Given the description of an element on the screen output the (x, y) to click on. 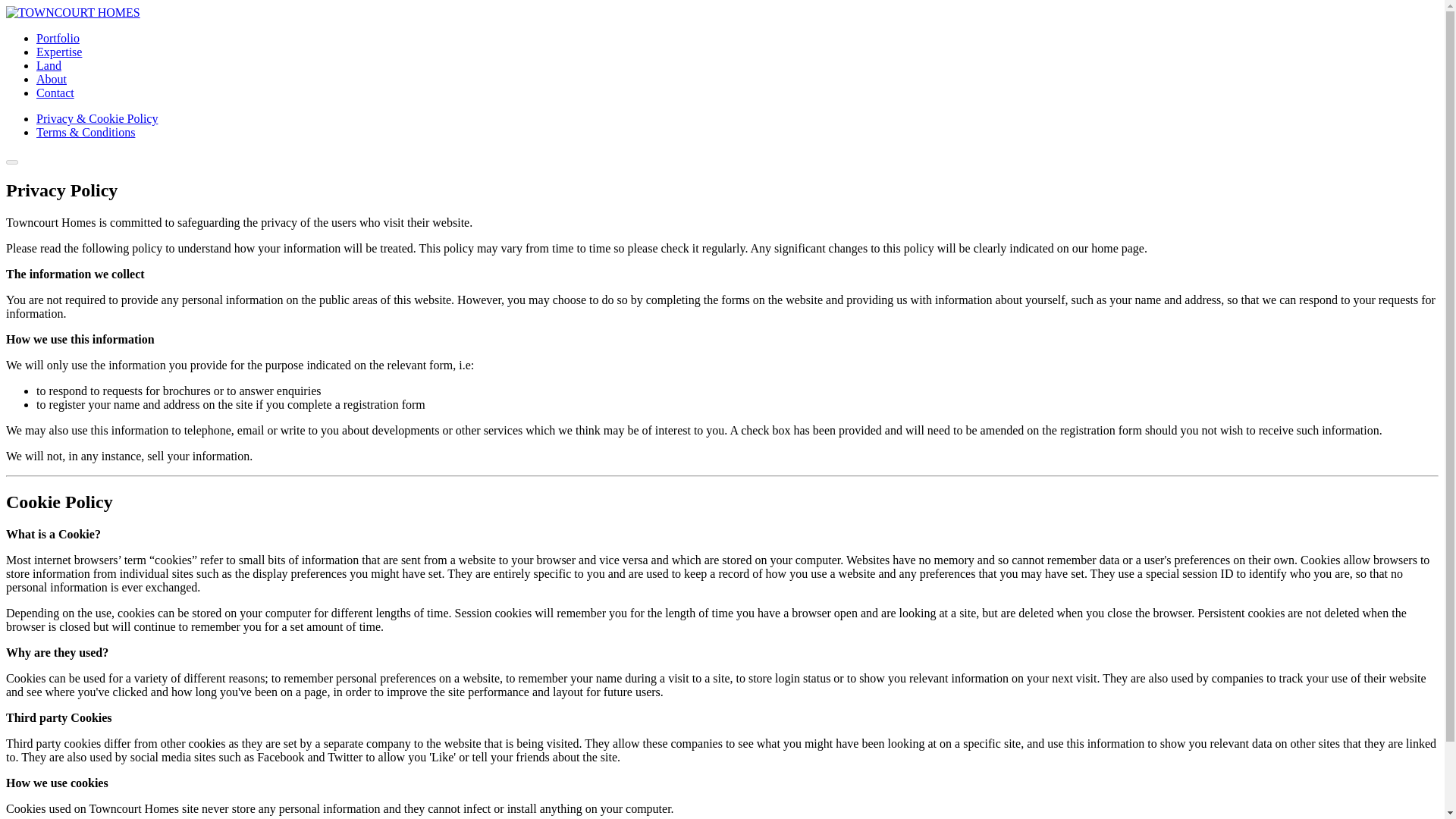
Land (48, 65)
Expertise (58, 51)
Portfolio (58, 38)
About (51, 78)
Contact (55, 92)
